Given the description of an element on the screen output the (x, y) to click on. 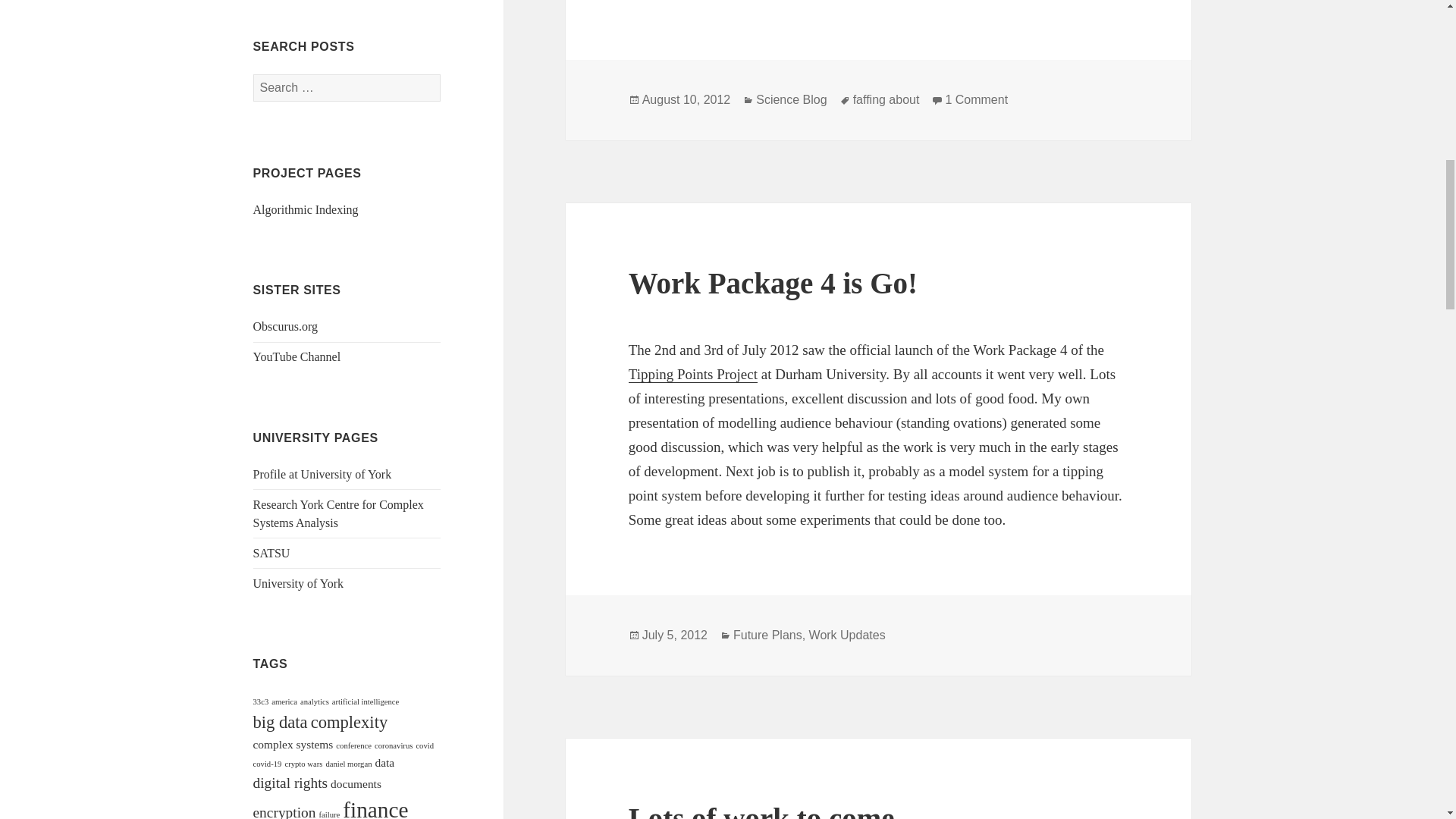
documents (355, 783)
Tipping Points Project (865, 386)
america (283, 701)
Science and Technology Studies Unit at University of York (271, 553)
Adventures in finance. (285, 326)
coronavirus (393, 746)
University of York (298, 583)
Profile at University of York (322, 473)
SATSU (271, 553)
covid-19 (267, 764)
crypto wars (302, 764)
encryption (284, 811)
big data (280, 722)
